Given the description of an element on the screen output the (x, y) to click on. 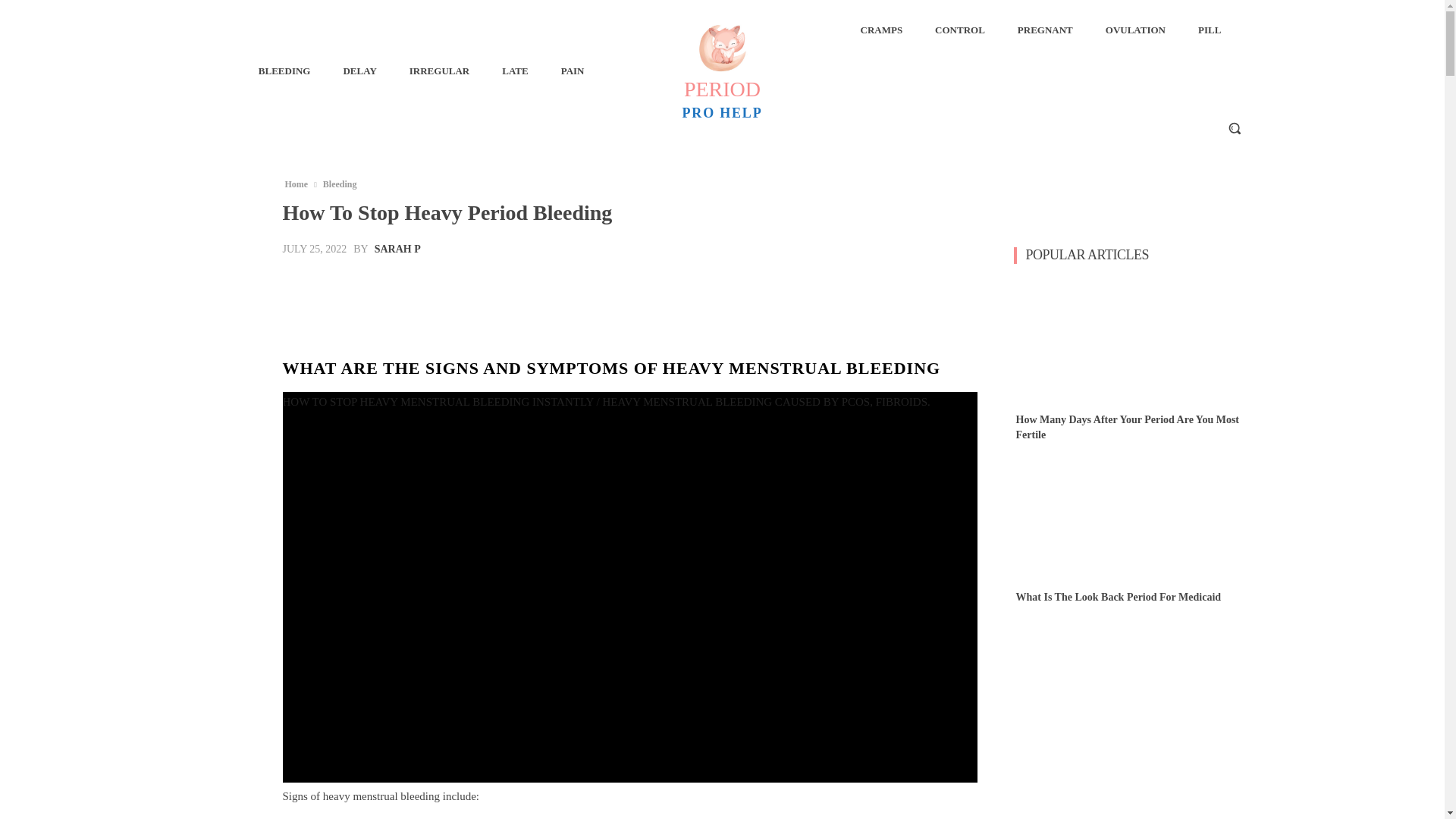
DELAY (359, 70)
View all posts in Bleeding (339, 184)
CONTROL (959, 30)
Bleeding (339, 184)
Home (296, 184)
BLEEDING (284, 70)
OVULATION (1135, 30)
IRREGULAR (439, 70)
PREGNANT (1045, 30)
CRAMPS (880, 30)
SARAH P (397, 249)
